Given the description of an element on the screen output the (x, y) to click on. 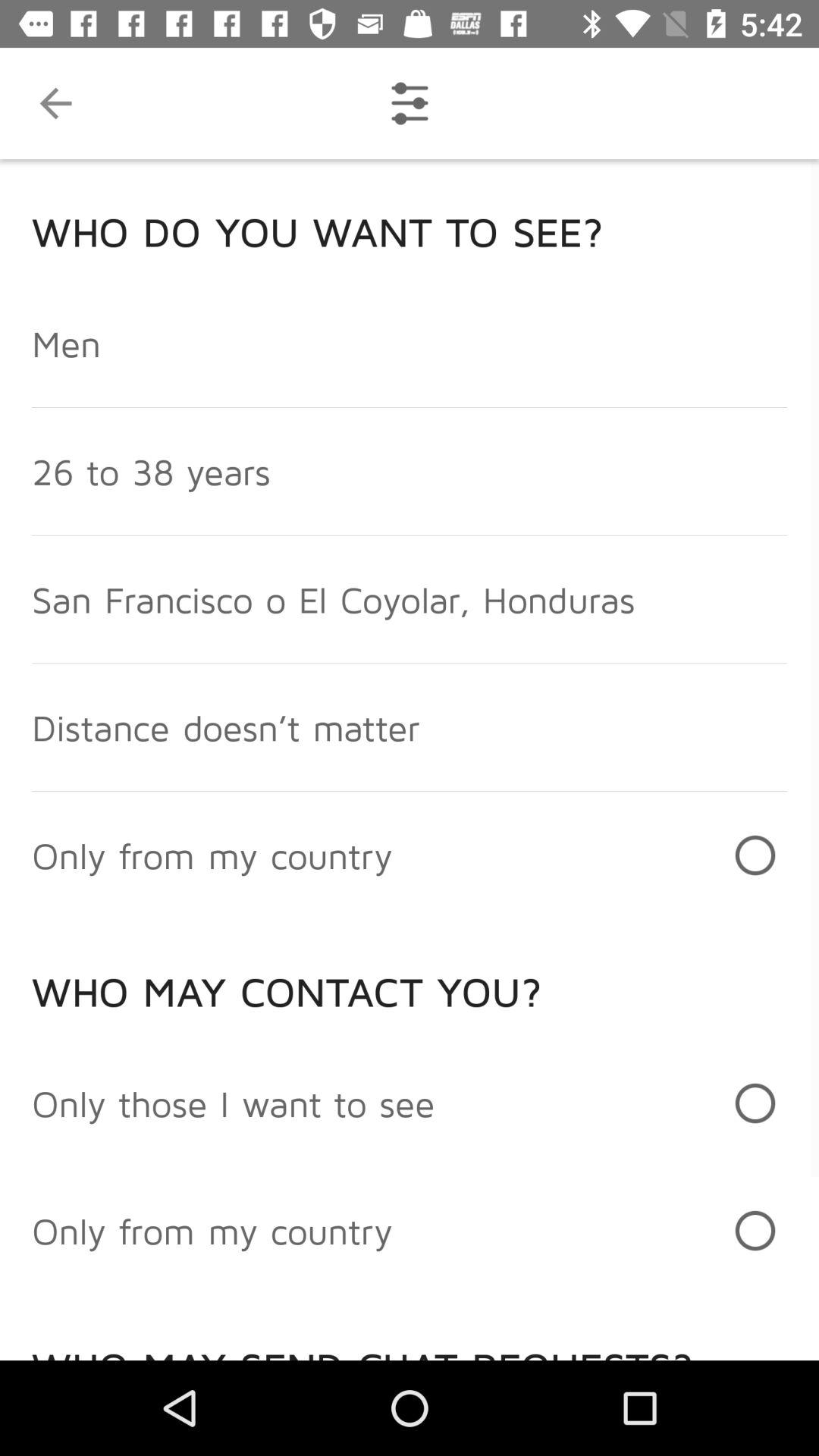
press the icon below who do you icon (66, 343)
